Given the description of an element on the screen output the (x, y) to click on. 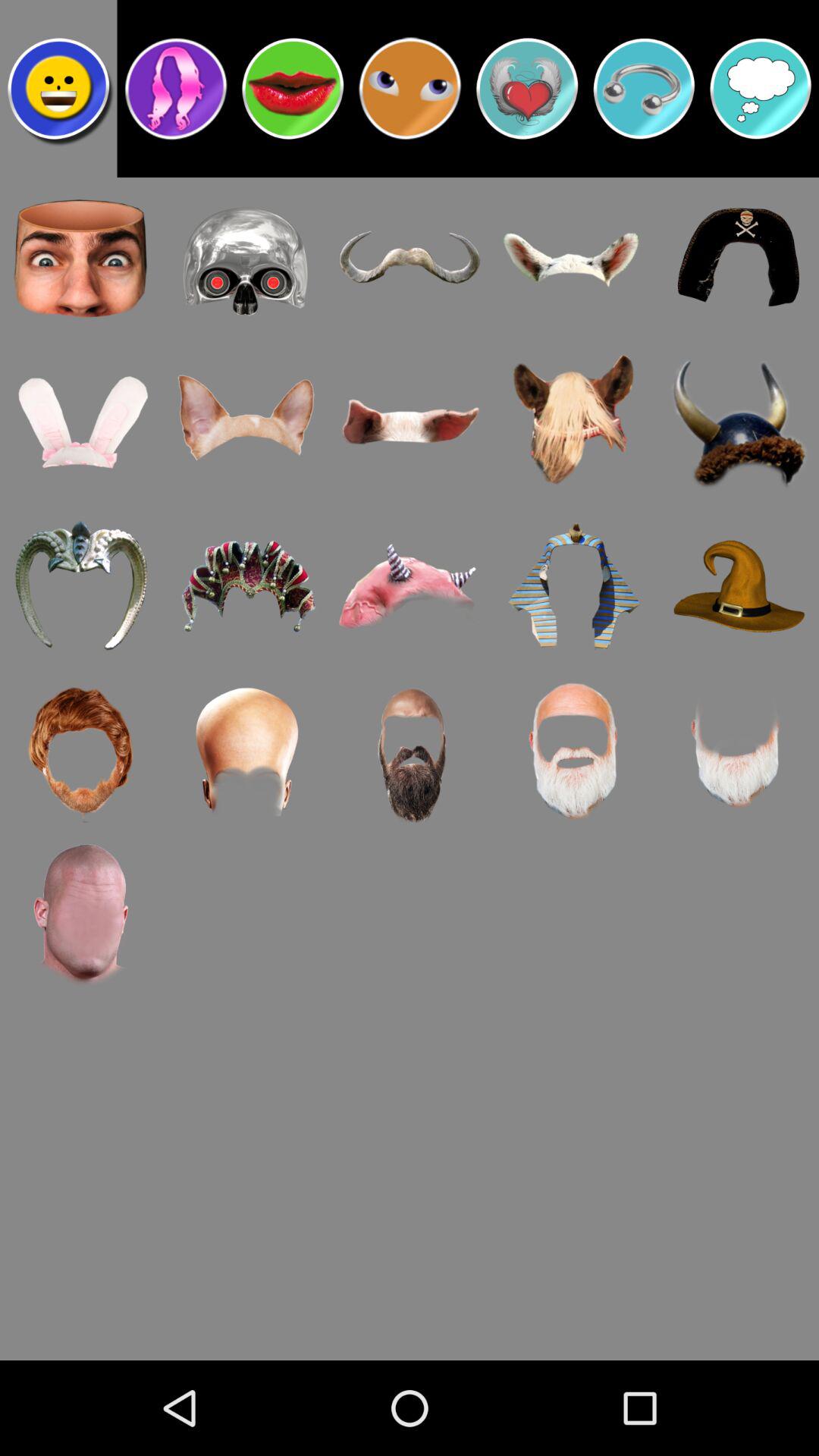
eyes with round orange face (409, 88)
